Given the description of an element on the screen output the (x, y) to click on. 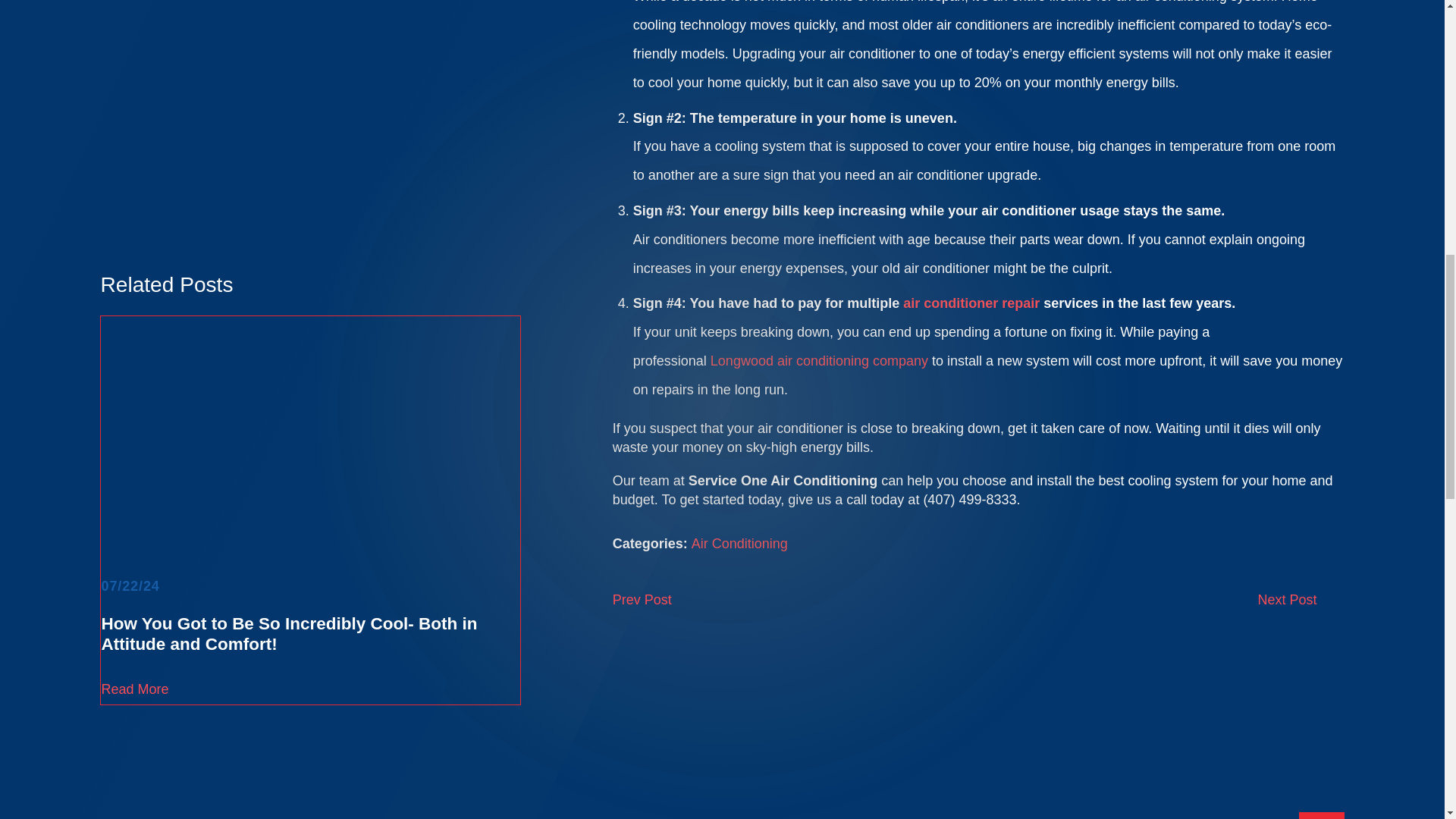
Longwood Air Conditioning Company (819, 360)
Air Conditioner Repair (970, 303)
Blog Menu (1320, 815)
